Given the description of an element on the screen output the (x, y) to click on. 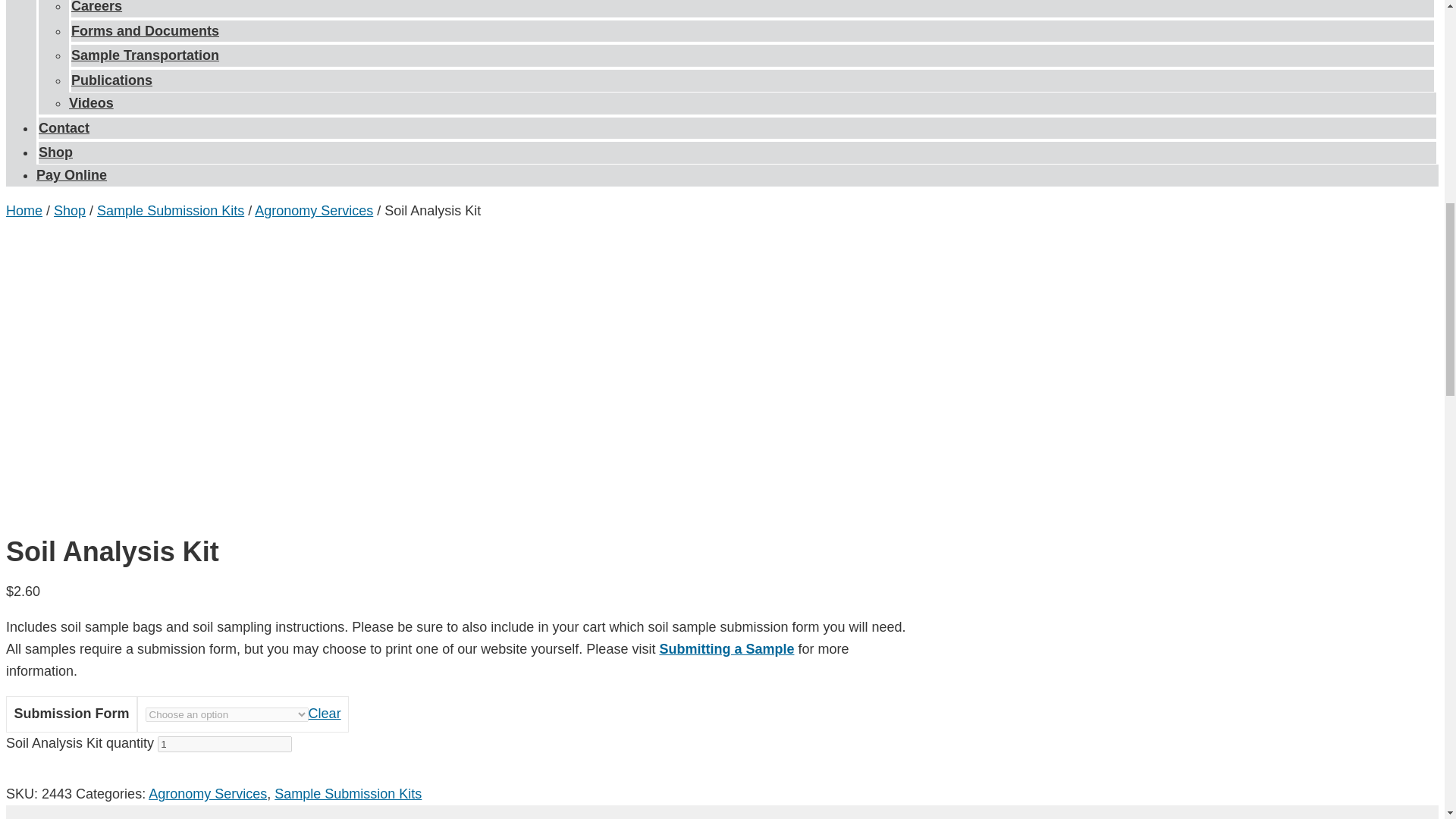
Forms and Documents (145, 31)
Home (23, 210)
Contact (63, 127)
Shop (69, 210)
Careers (96, 13)
1 (224, 744)
Sample Transportation (145, 54)
Shop (55, 152)
Publications (111, 80)
Pay Online (71, 175)
Videos (90, 103)
Blog (86, 1)
